Given the description of an element on the screen output the (x, y) to click on. 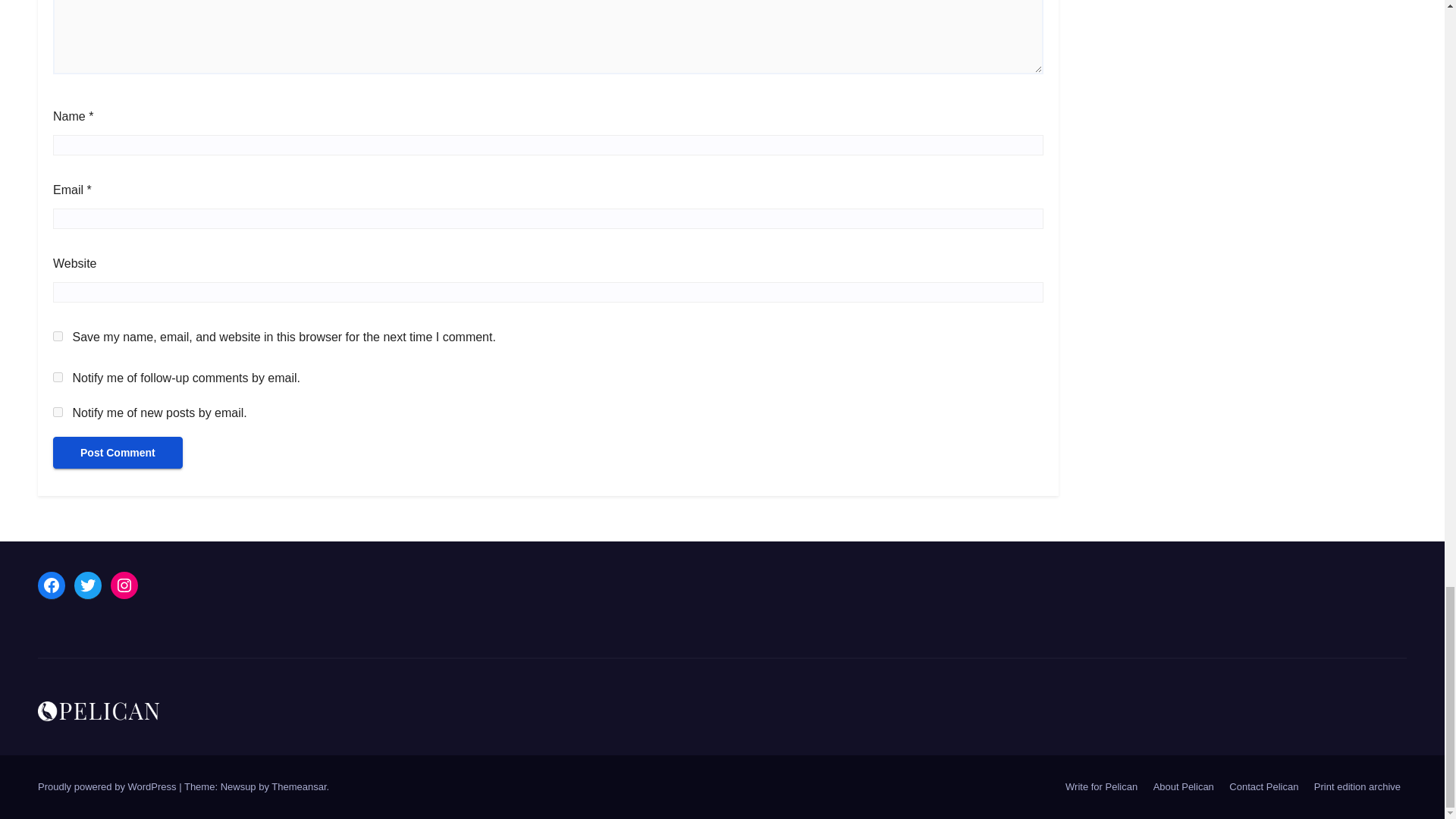
subscribe (57, 377)
Post Comment (117, 452)
yes (57, 336)
subscribe (57, 411)
